Given the description of an element on the screen output the (x, y) to click on. 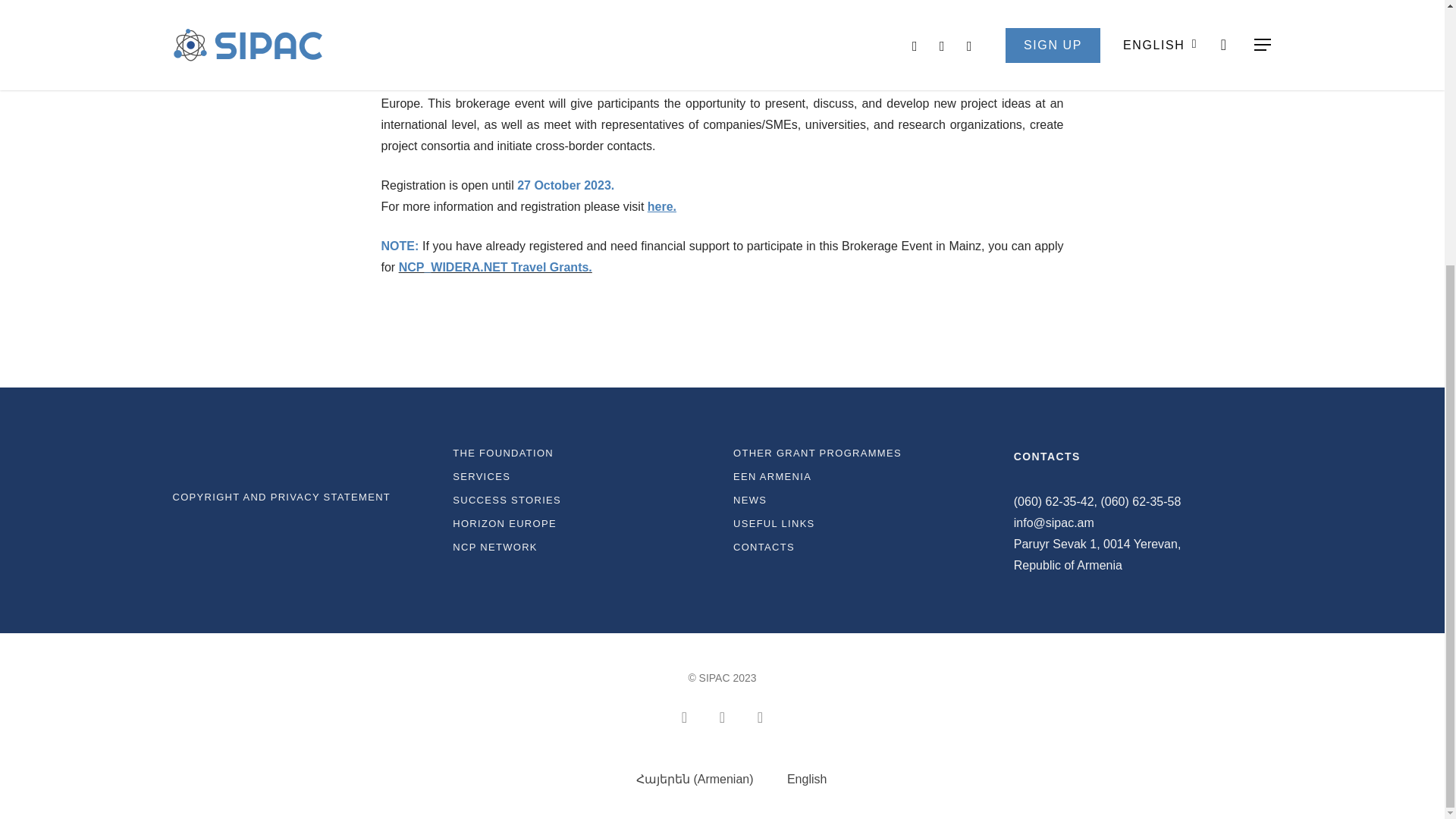
USEFUL LINKS (862, 523)
CONTACTS (862, 547)
HORIZON EUROPE (581, 523)
here. (662, 205)
NCP NETWORK (581, 547)
NEWS (862, 499)
OTHER GRANT PROGRAMMES (862, 452)
SERVICES (581, 476)
linkedin (760, 716)
SUCCESS STORIES (581, 499)
THE FOUNDATION (581, 452)
EEN ARMENIA (862, 476)
COPYRIGHT AND PRIVACY STATEMENT (301, 497)
twitter (683, 716)
facebook (722, 716)
